Given the description of an element on the screen output the (x, y) to click on. 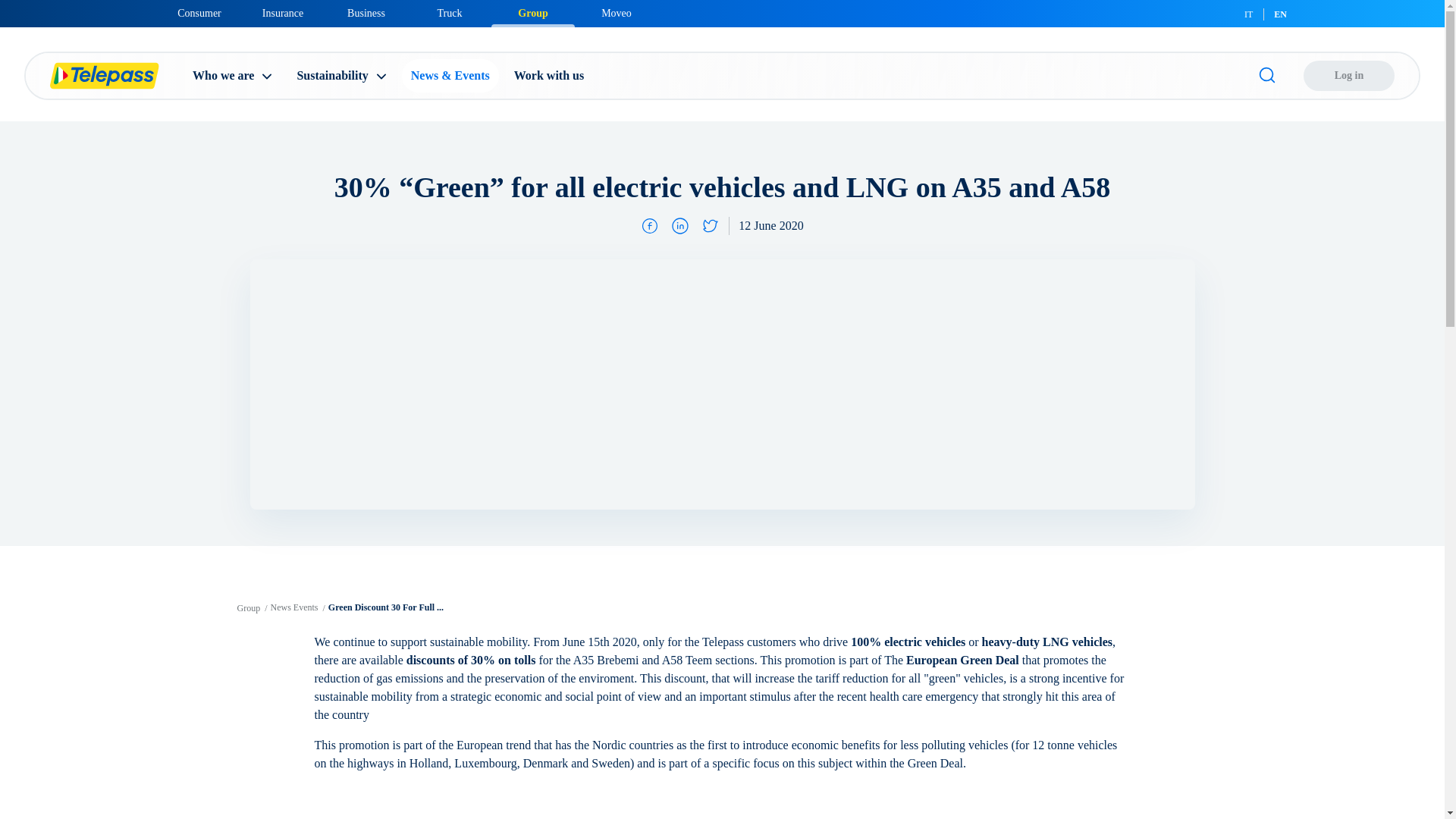
group (247, 607)
Moveo (616, 13)
Group (533, 13)
news events (294, 606)
Business (365, 13)
Insurance (282, 13)
Truck (449, 13)
Consumer (199, 13)
